Given the description of an element on the screen output the (x, y) to click on. 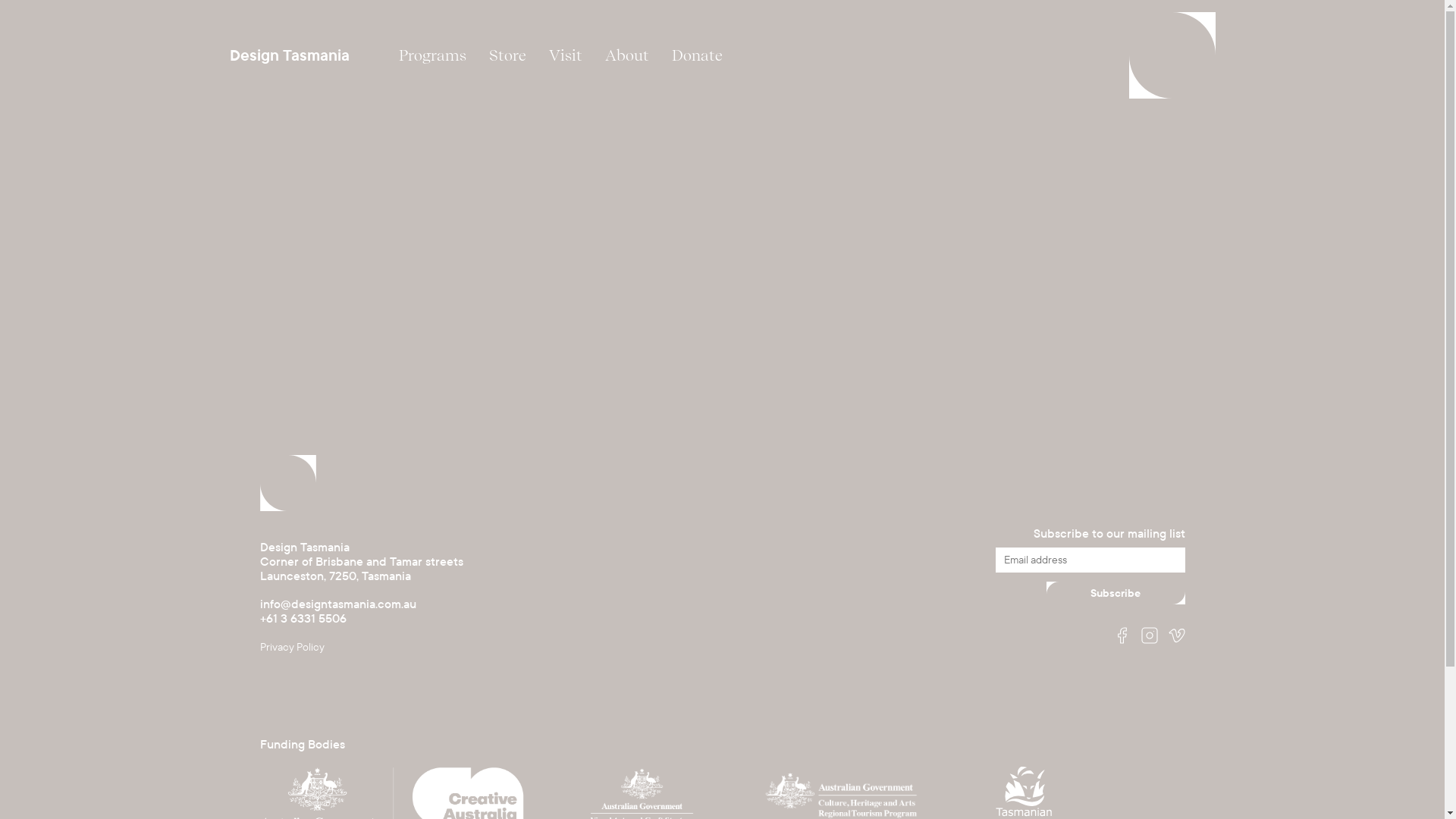
Subscribe Element type: text (1115, 592)
Programs Element type: text (431, 54)
Design Tasmania Element type: text (289, 54)
Facebook Element type: text (1121, 636)
Privacy Policy Element type: text (291, 646)
About Element type: text (626, 54)
Menu Element type: text (1171, 55)
Visit Element type: text (564, 54)
Instagram Element type: hover (1148, 636)
Vimeo Element type: hover (1175, 636)
Donate Element type: text (696, 54)
Store Element type: text (507, 54)
